Given the description of an element on the screen output the (x, y) to click on. 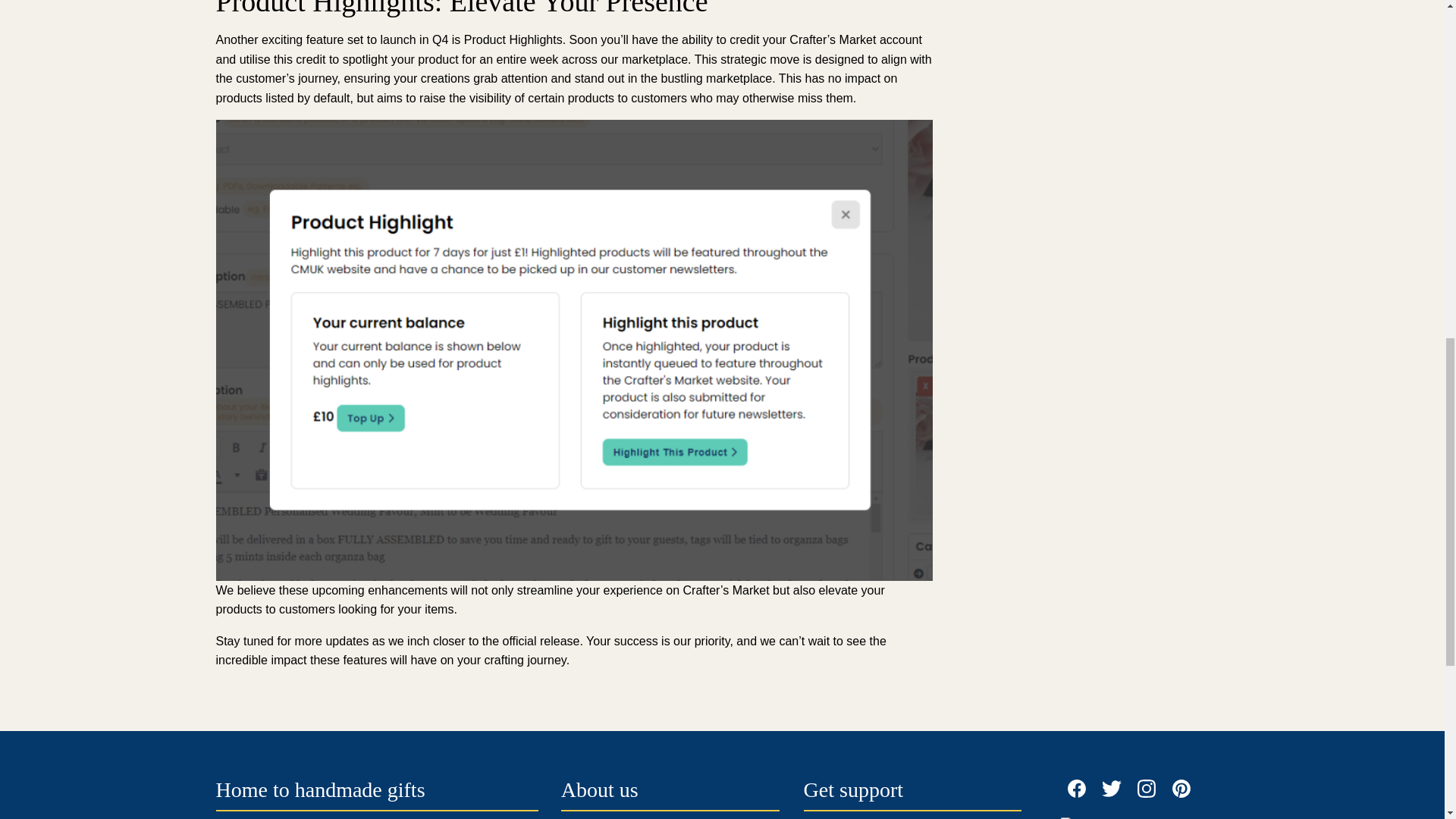
Crafter's Market UK Pinterest (1181, 788)
Crafter's Market UK Facebook (1076, 788)
Crafter's Market UK Instagram (1146, 788)
Crafter's Market UK Twitter (1111, 788)
